Given the description of an element on the screen output the (x, y) to click on. 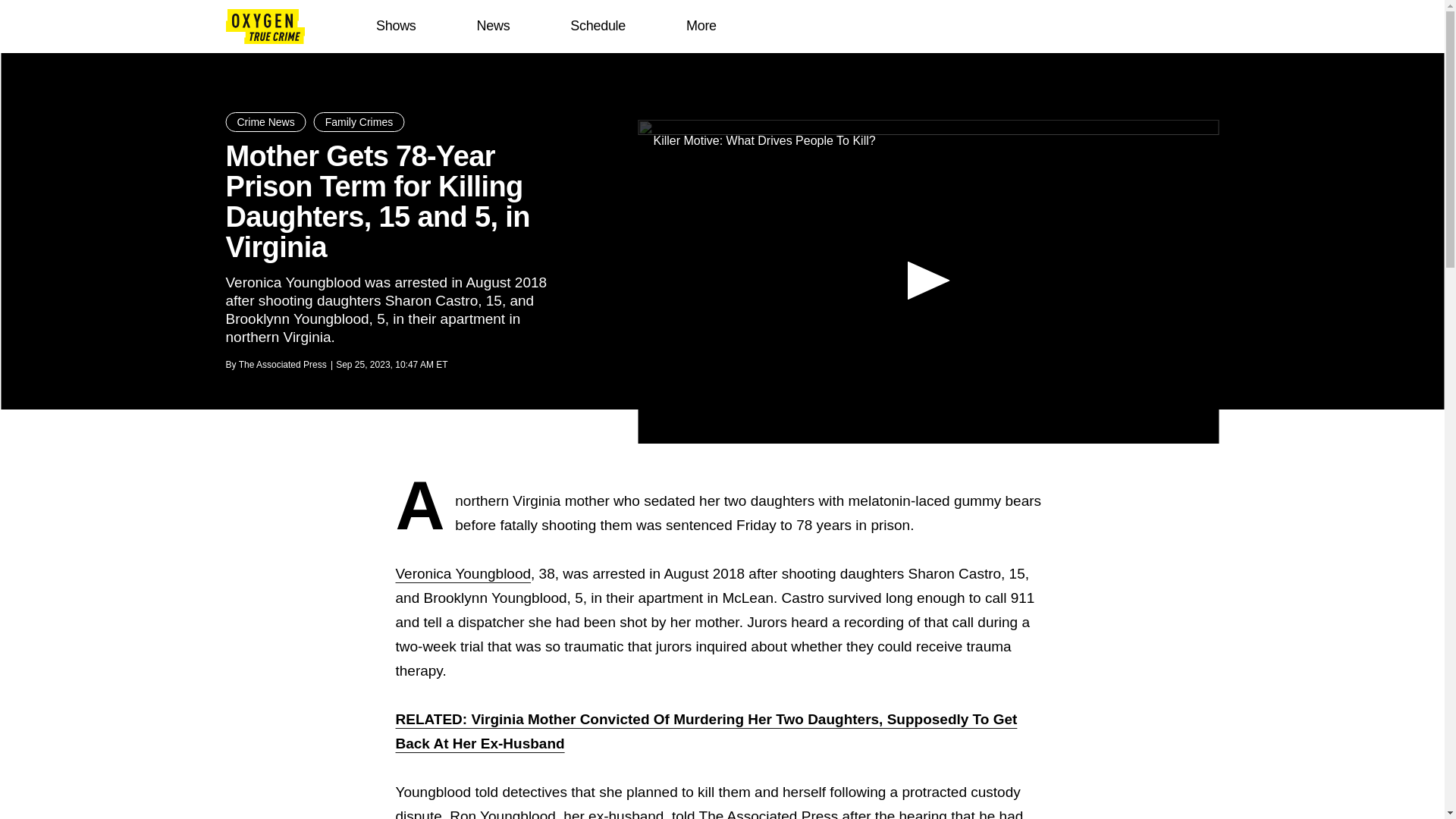
Shows (395, 26)
The Associated Press (282, 364)
Family Crimes (359, 121)
Schedule (598, 26)
More (700, 26)
Crime News (265, 121)
Veronica Youngblood (463, 573)
News (492, 26)
